Given the description of an element on the screen output the (x, y) to click on. 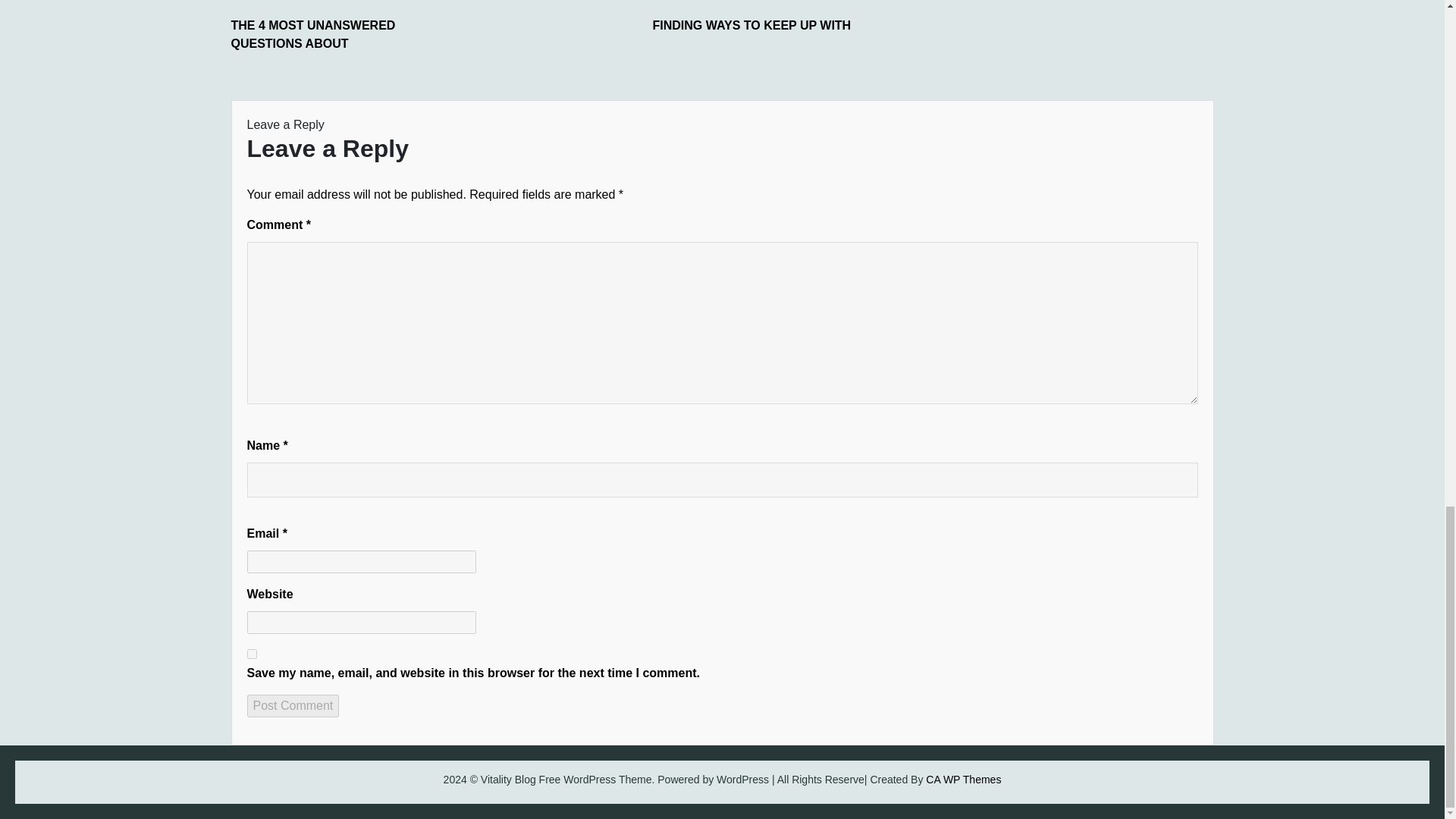
FINDING WAYS TO KEEP UP WITH (765, 25)
Post Comment (293, 705)
Post Comment (293, 705)
yes (252, 654)
THE 4 MOST UNANSWERED QUESTIONS ABOUT (344, 34)
CA WP Themes (963, 779)
